Given the description of an element on the screen output the (x, y) to click on. 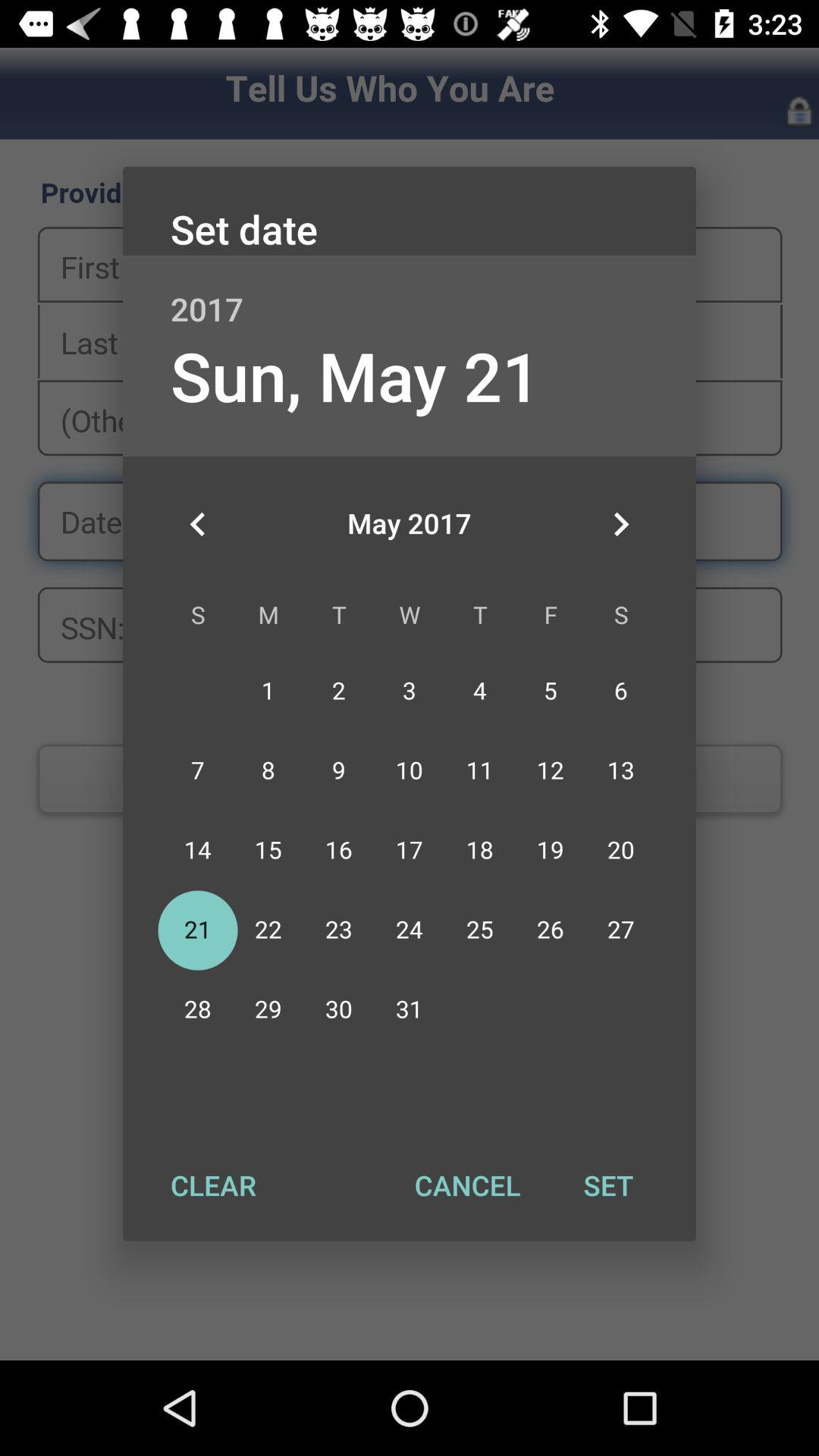
tap icon above clear (197, 524)
